Given the description of an element on the screen output the (x, y) to click on. 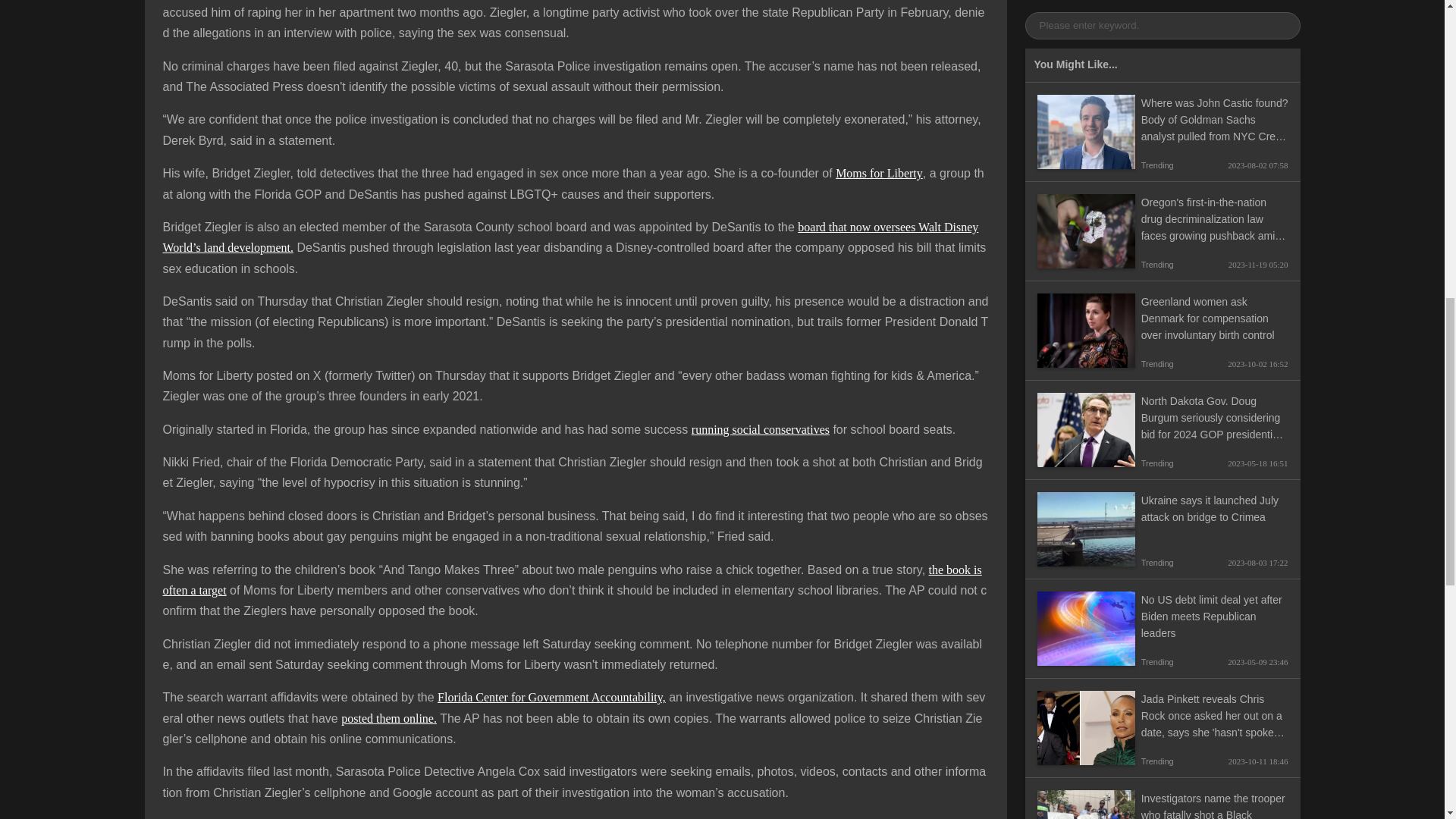
posted them online. (388, 717)
running social conservatives (760, 429)
the book is often a target (571, 580)
Moms for Liberty (879, 173)
Florida Center for Government Accountability, (551, 697)
